Given the description of an element on the screen output the (x, y) to click on. 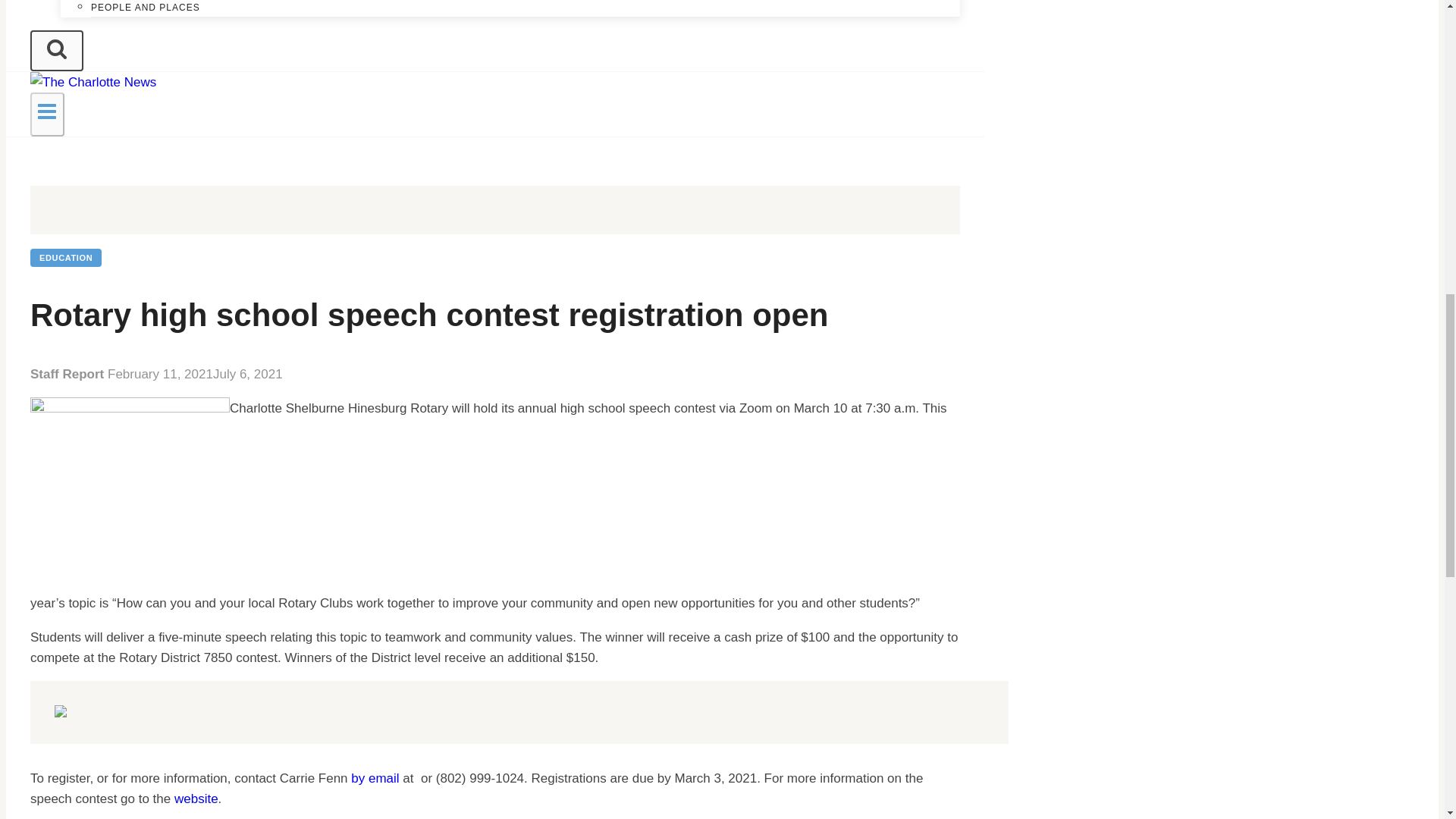
PEOPLE AND PLACES (145, 11)
Search (56, 50)
Search (56, 47)
